Given the description of an element on the screen output the (x, y) to click on. 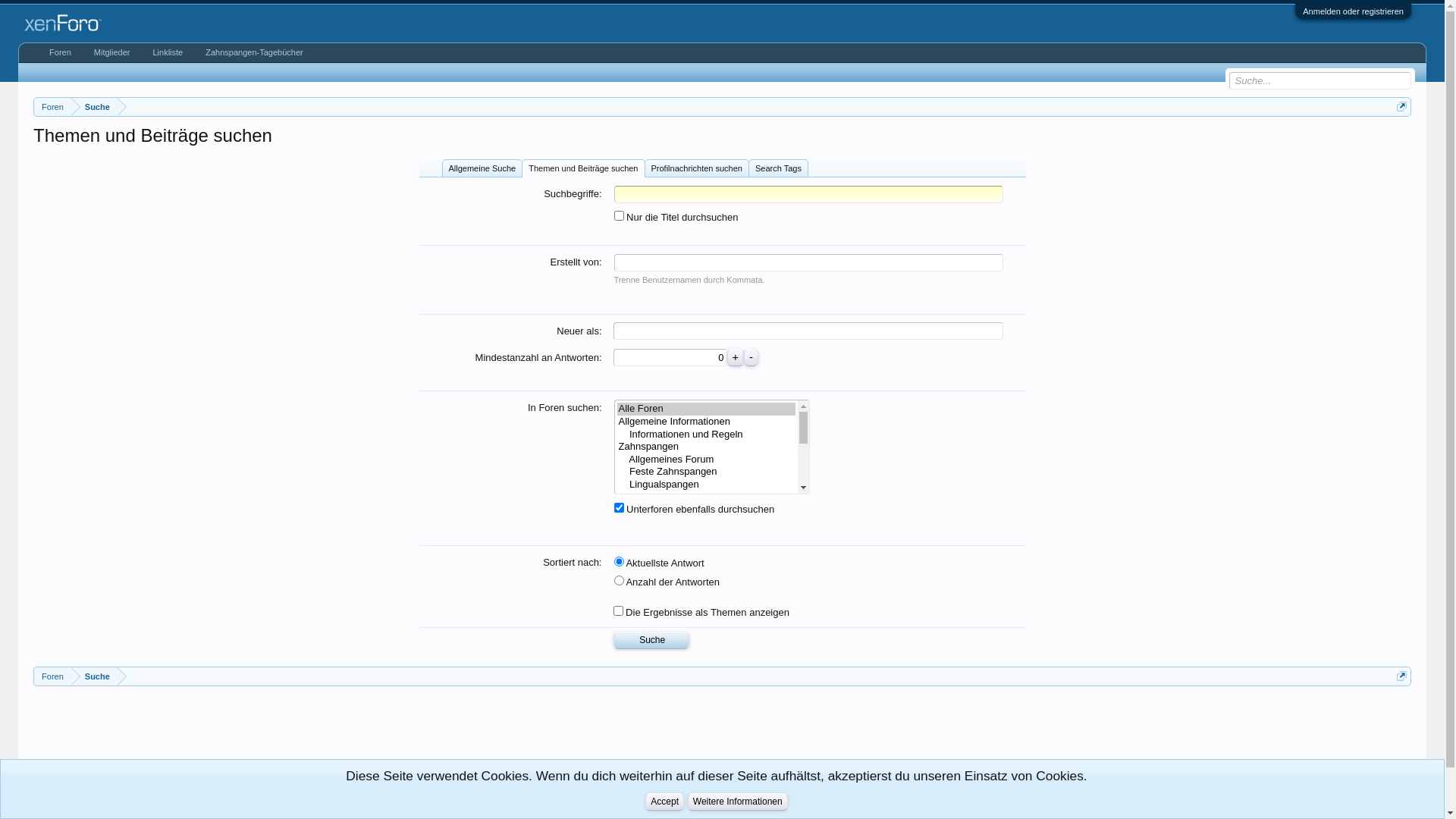
 Suche Element type: text (650, 640)
Advertisement Element type: hover (101, 750)
Mitglieder Element type: text (111, 52)
Accept Element type: text (664, 801)
Suche Element type: text (94, 106)
Profilnachrichten suchen Element type: text (696, 168)
Search Tags Element type: text (778, 168)
Weitere Informationen Element type: text (737, 801)
Foren Element type: text (52, 106)
Gib deine Suche ein und verwende die Eingabetaste Element type: hover (1320, 80)
Allgemeine Suche Element type: text (481, 168)
Anmelden oder registrieren Element type: text (1352, 10)
Linkliste Element type: text (167, 52)
Suche Element type: text (94, 676)
Foren Element type: text (52, 676)
Foren Element type: text (59, 52)
